Given the description of an element on the screen output the (x, y) to click on. 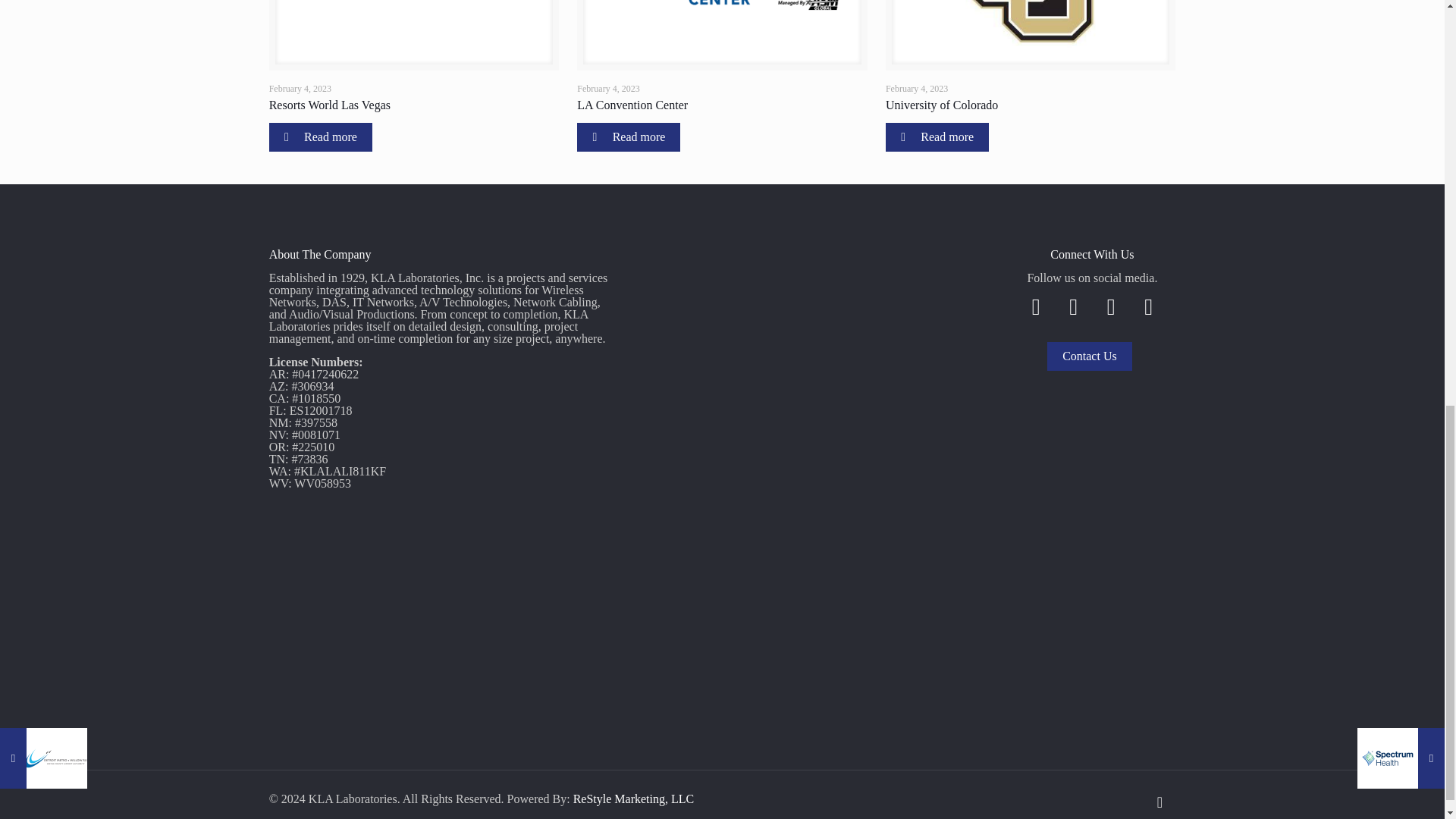
YouTube video player (815, 601)
Resorts World Las Vegas (329, 104)
YouTube video player (815, 361)
